Given the description of an element on the screen output the (x, y) to click on. 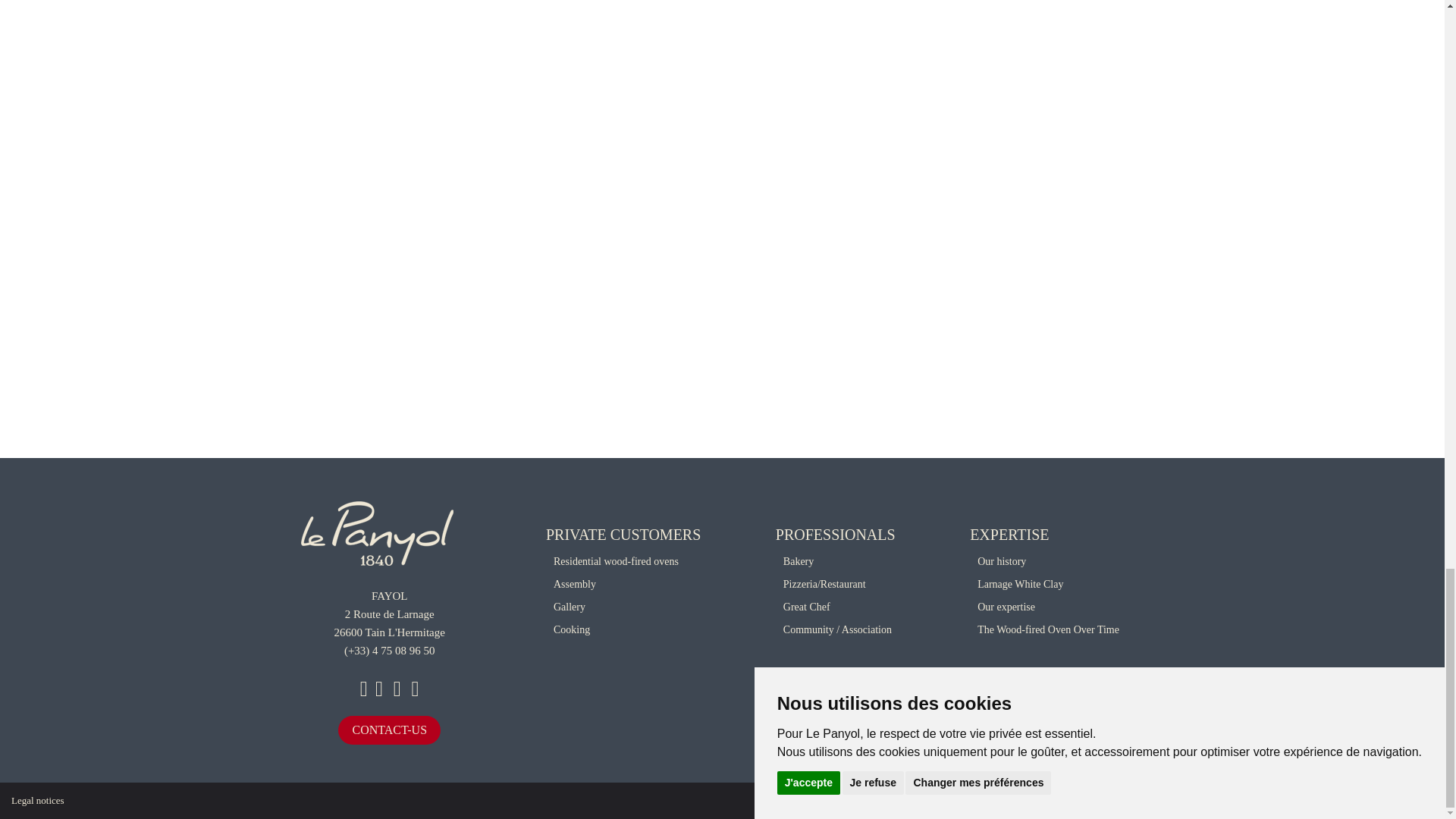
Le Panyol (376, 531)
